Given the description of an element on the screen output the (x, y) to click on. 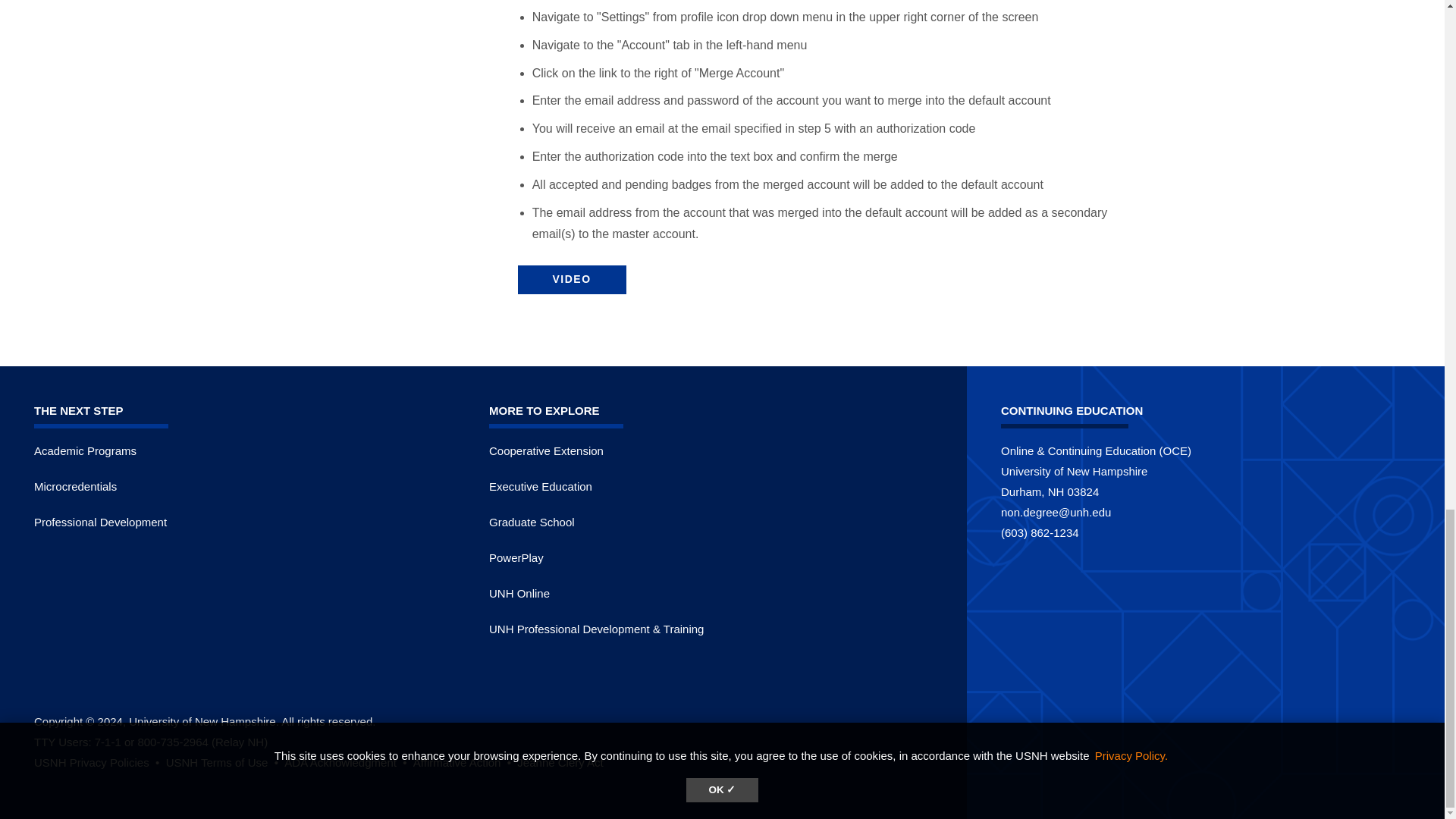
Paul College Executive Education (540, 486)
Cooperative Extension (546, 450)
Micro-Credentials (74, 486)
PowerPlay (516, 557)
Academic Programs (84, 450)
Professional Development (100, 521)
UNH Online (519, 593)
